Given the description of an element on the screen output the (x, y) to click on. 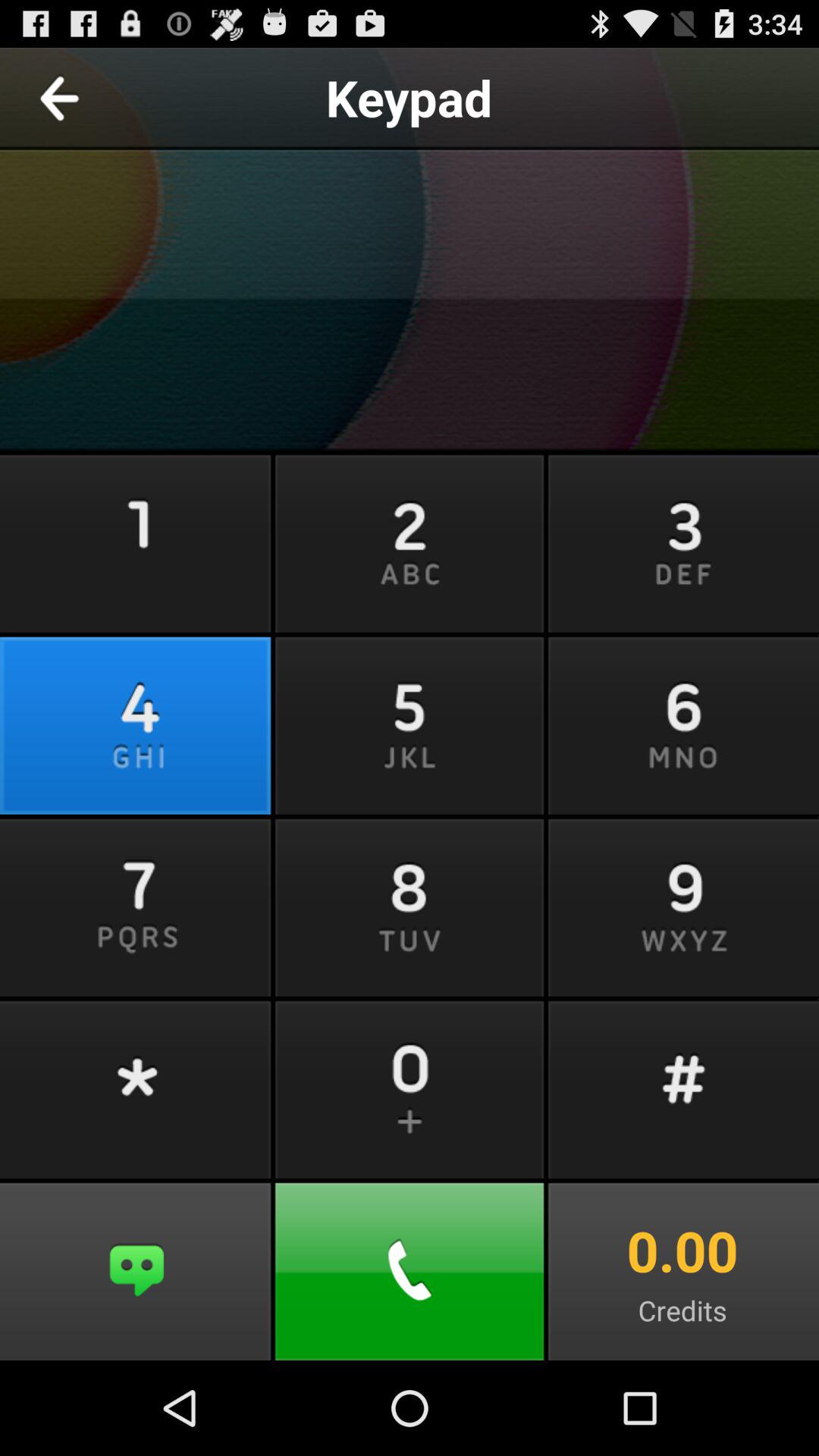
button right to 1 (409, 540)
number which is below 3 (682, 722)
select the button above the button 0 (409, 904)
